Given the description of an element on the screen output the (x, y) to click on. 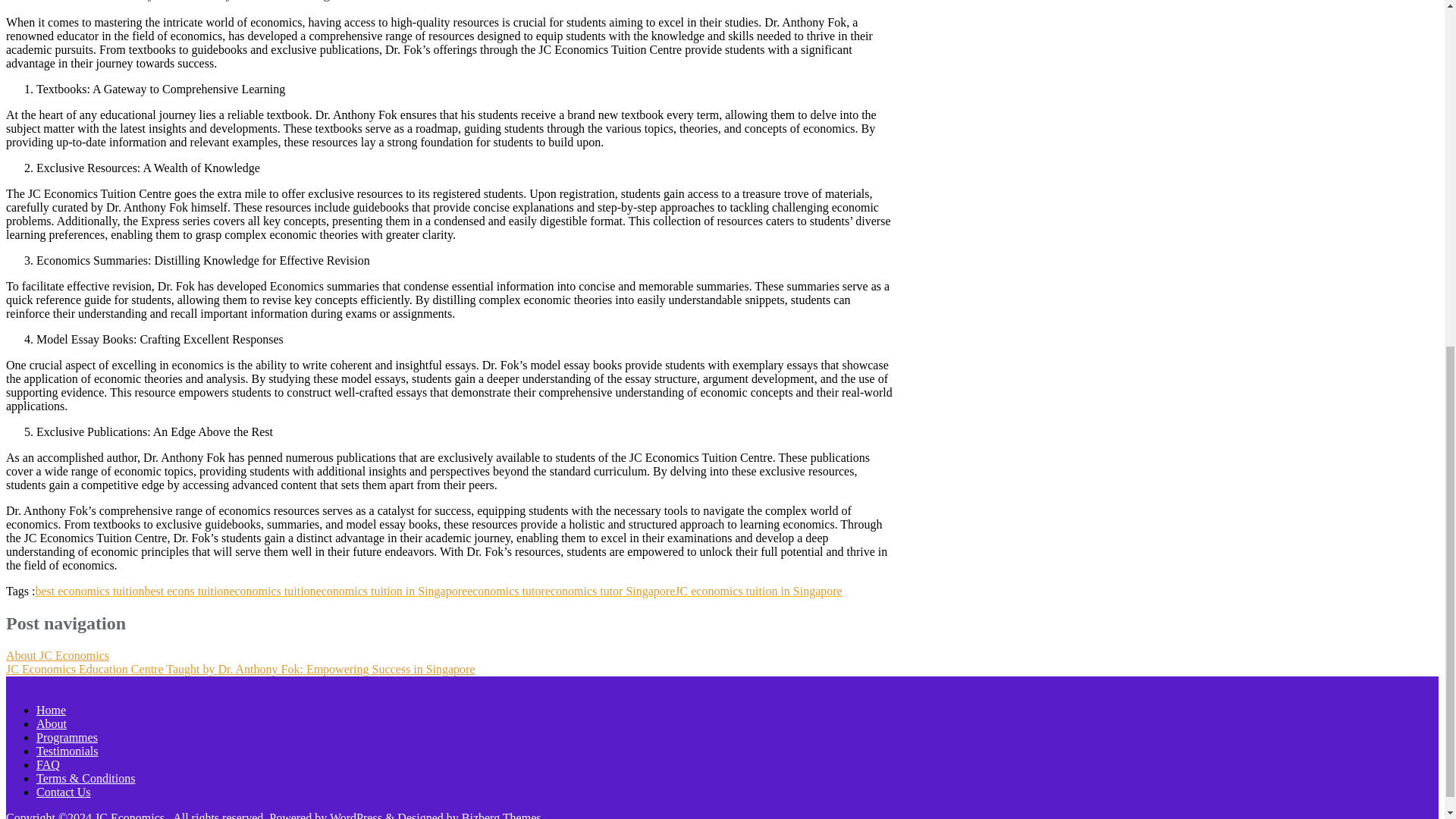
Programmes (66, 737)
JC economics tuition in Singapore (758, 590)
best econs tuition (186, 590)
economics tuition (271, 590)
Contact Us (63, 791)
Testimonials (67, 750)
FAQ (47, 764)
economics tutor Singapore (609, 590)
About JC Economics (57, 655)
economics tutor (505, 590)
About (51, 723)
economics tuition in Singapore (391, 590)
best economics tuition (89, 590)
Home (50, 709)
